Given the description of an element on the screen output the (x, y) to click on. 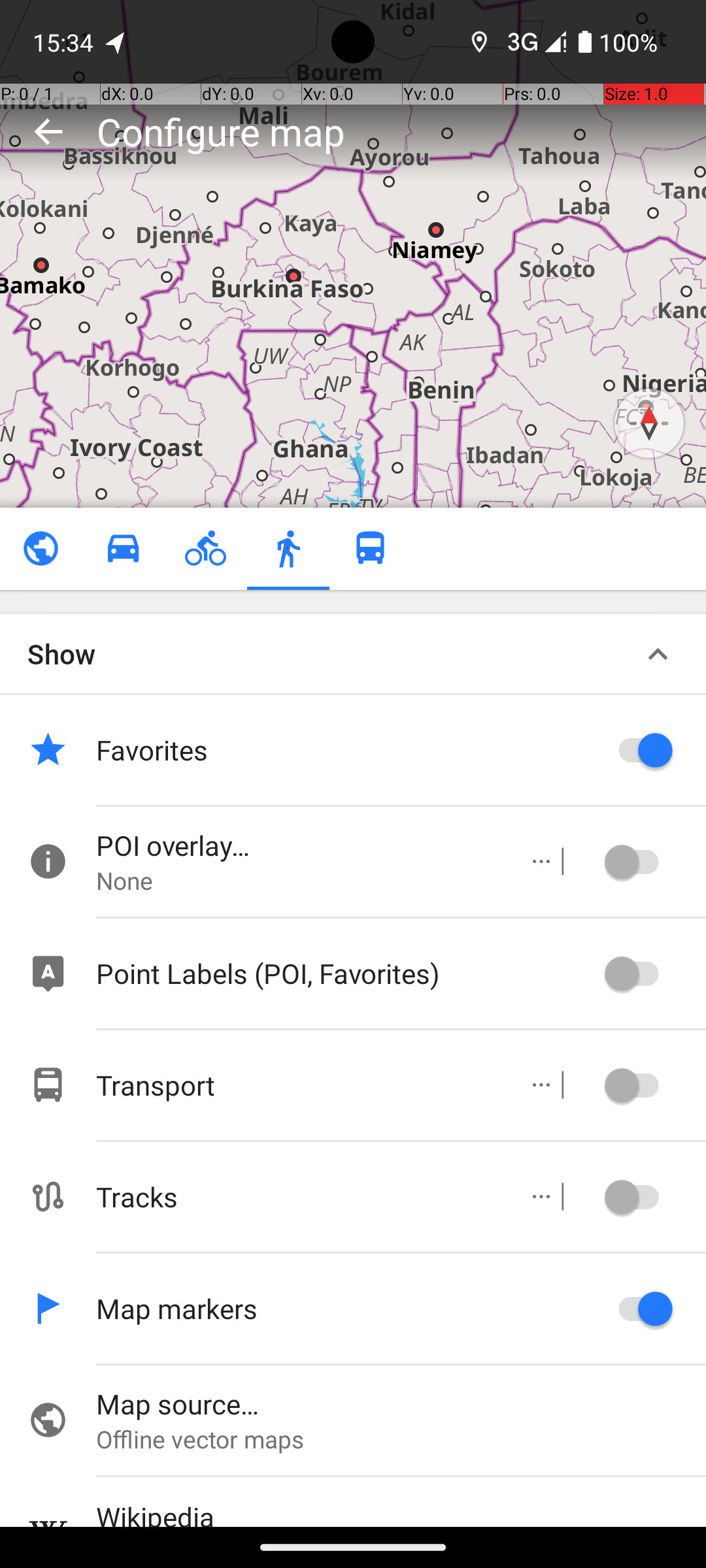
Back to map Element type: android.widget.ImageButton (48, 131)
Compass direction Element type: android.widget.ImageButton (649, 423)
Browse map unchecked Element type: android.widget.ImageView (40, 548)
Driving unchecked Element type: android.widget.ImageView (122, 548)
Cycling unchecked Element type: android.widget.ImageView (205, 548)
Walking checked Element type: android.widget.ImageView (287, 548)
Show Element type: android.widget.TextView (61, 653)
Favorites Element type: android.widget.TextView (346, 749)
POI overlay… Element type: android.widget.TextView (298, 844)
Point Labels (POI, Favorites) Element type: android.widget.TextView (346, 972)
Transport Element type: android.widget.TextView (298, 1084)
Tracks Element type: android.widget.TextView (298, 1196)
Map markers Element type: android.widget.TextView (346, 1307)
Map source… Element type: android.widget.TextView (401, 1403)
Offline vector maps Element type: android.widget.TextView (401, 1438)
Wikipedia Element type: android.widget.TextView (401, 1512)
